Given the description of an element on the screen output the (x, y) to click on. 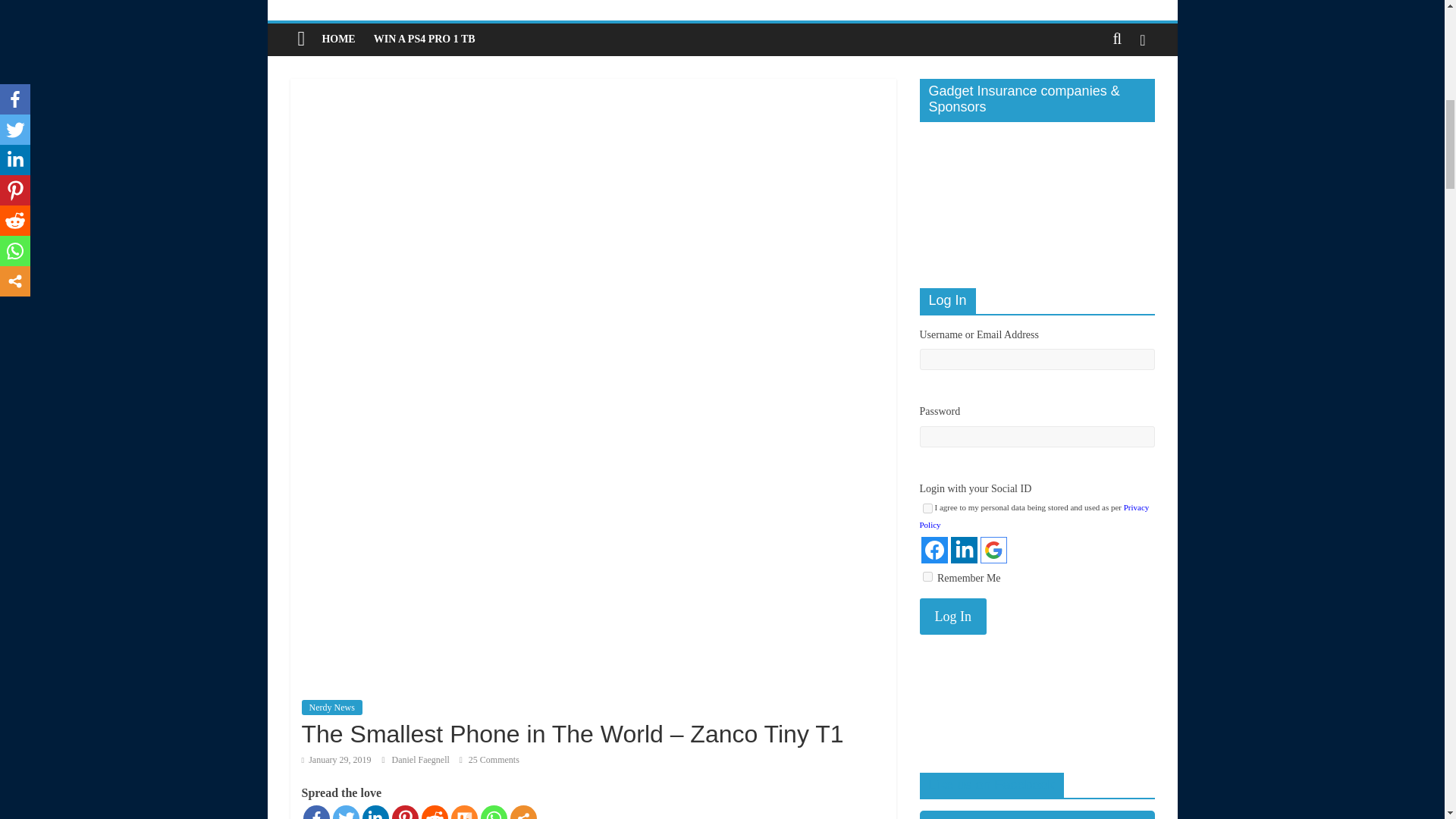
Nerdy News (331, 707)
Daniel Faegnell (421, 759)
Daniel Faegnell (421, 759)
Linkedin (375, 812)
WIN A PS4 PRO 1 TB (424, 39)
Reddit (435, 812)
HOME (338, 39)
Twitter (344, 812)
12:53 am (336, 759)
forever (926, 576)
